Given the description of an element on the screen output the (x, y) to click on. 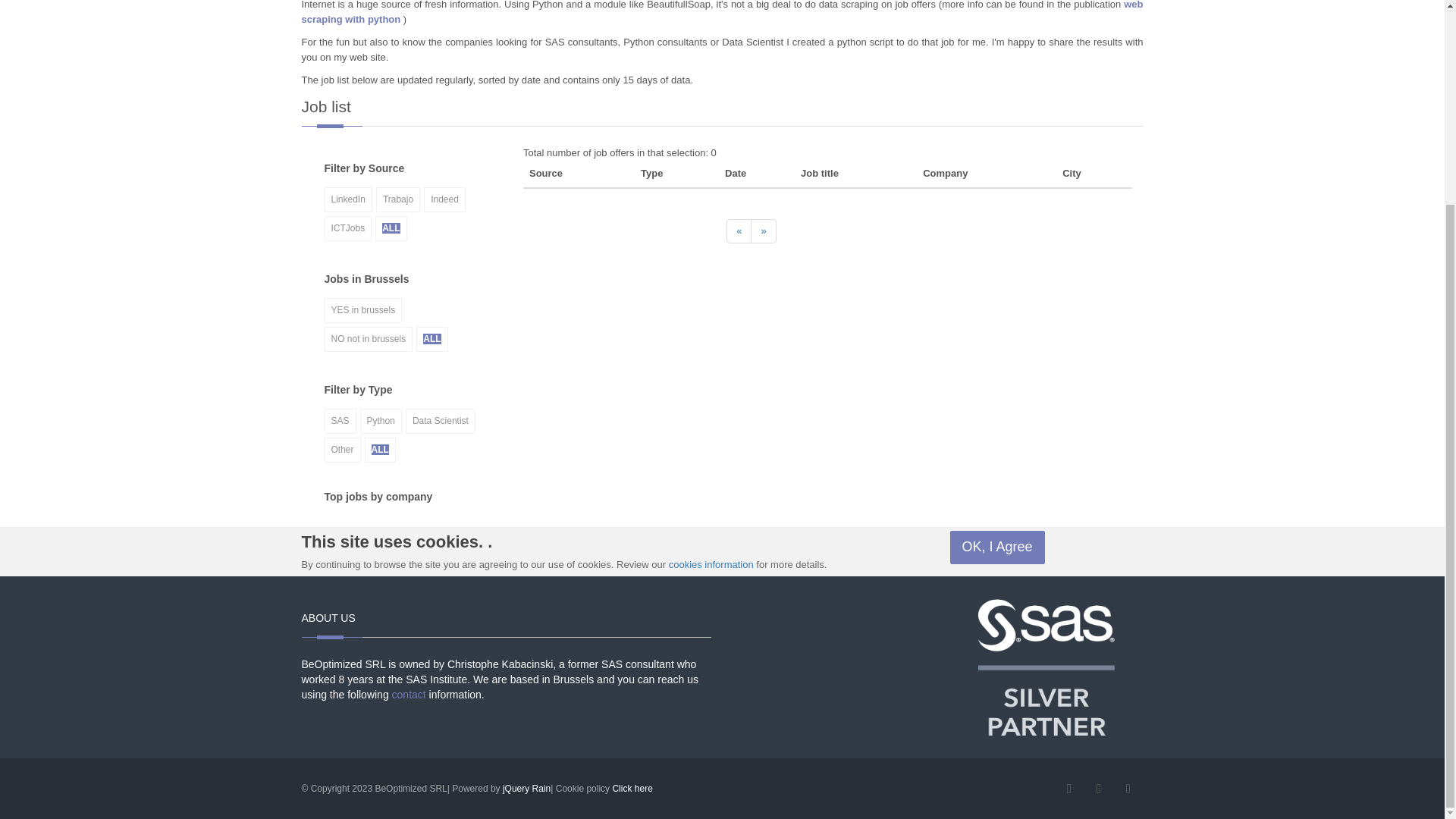
BeOptimized SAS Silver Partner (1046, 665)
